Given the description of an element on the screen output the (x, y) to click on. 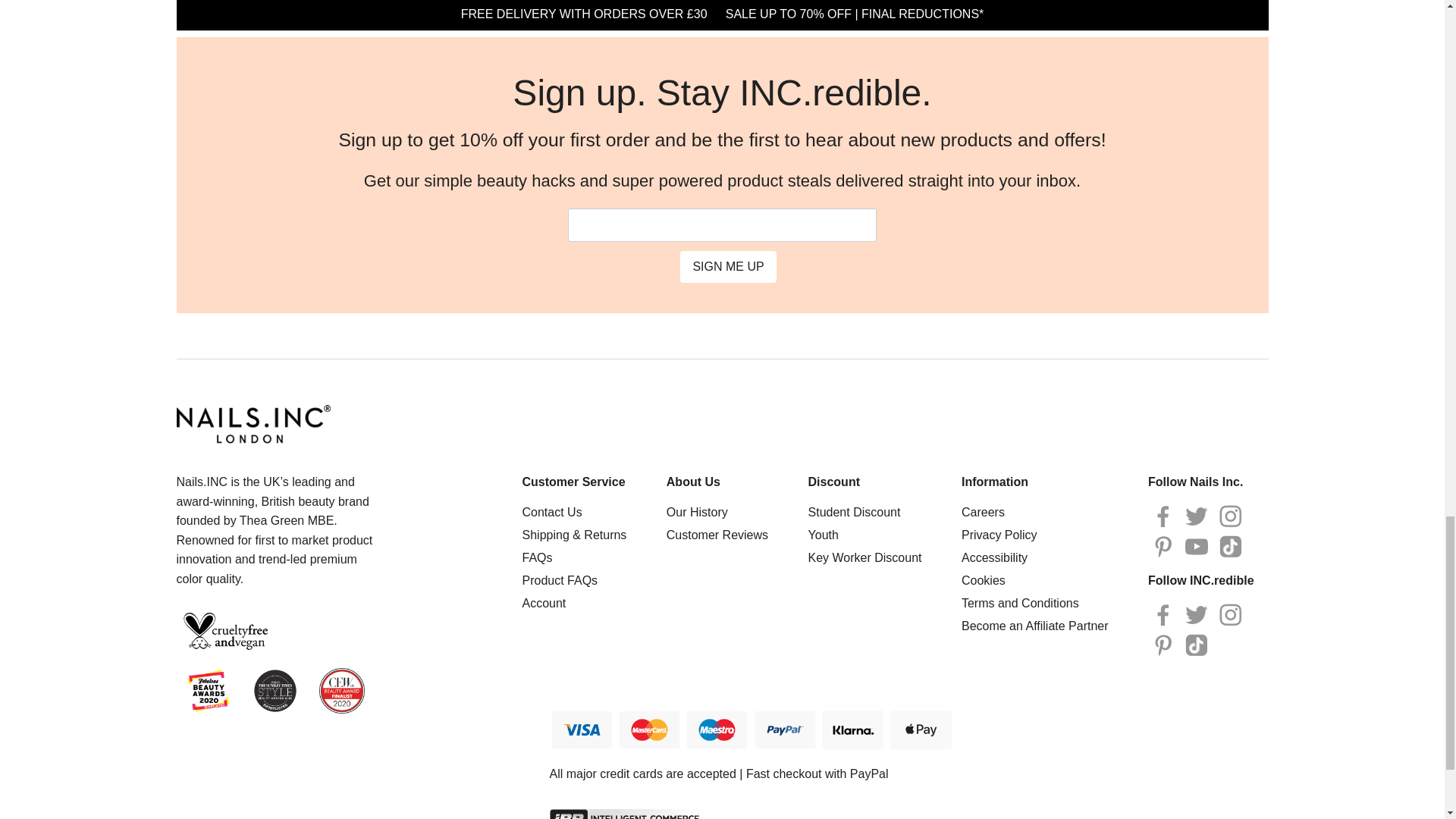
Sign me up (727, 266)
